Given the description of an element on the screen output the (x, y) to click on. 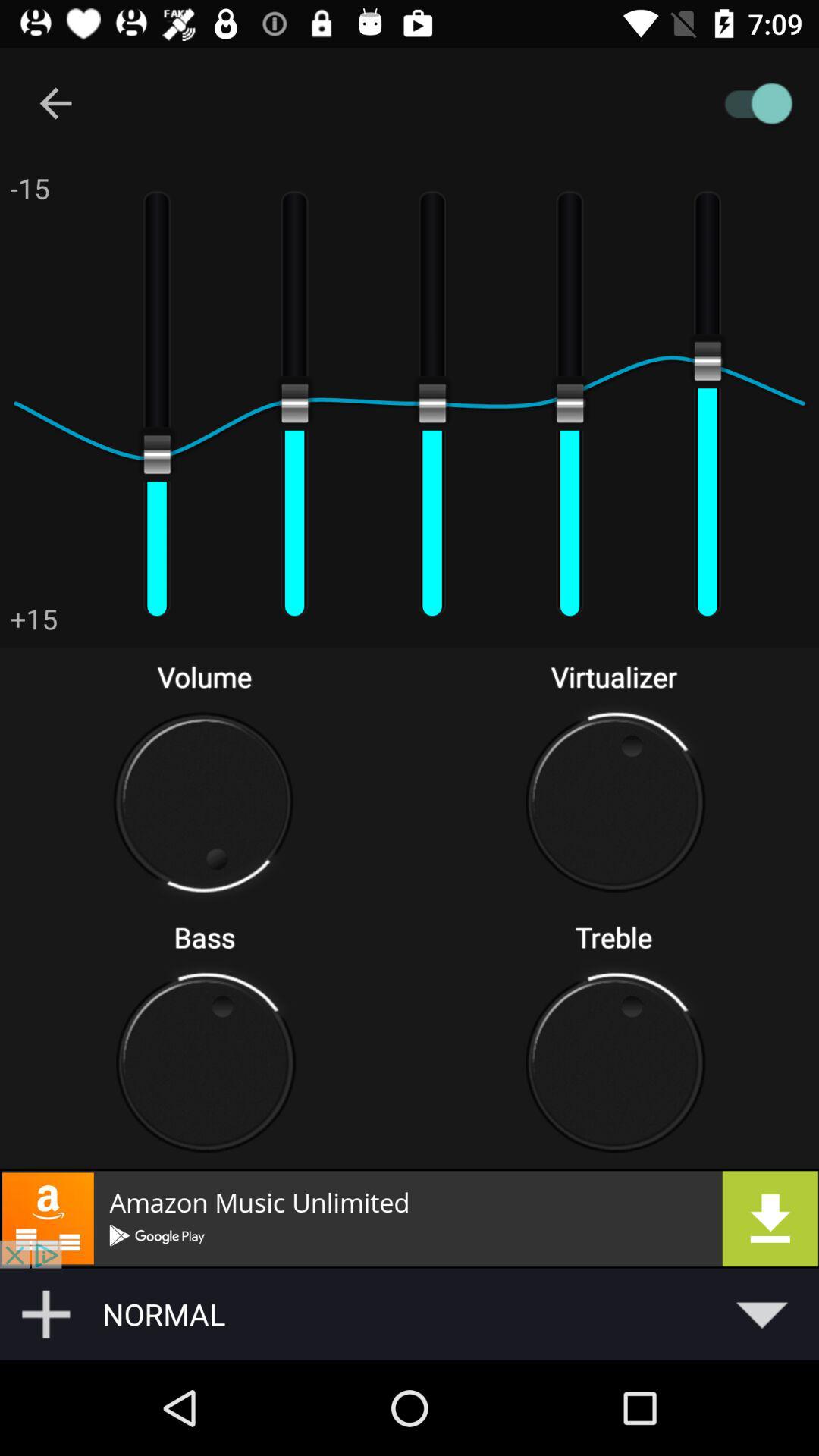
plus option (46, 1314)
